Given the description of an element on the screen output the (x, y) to click on. 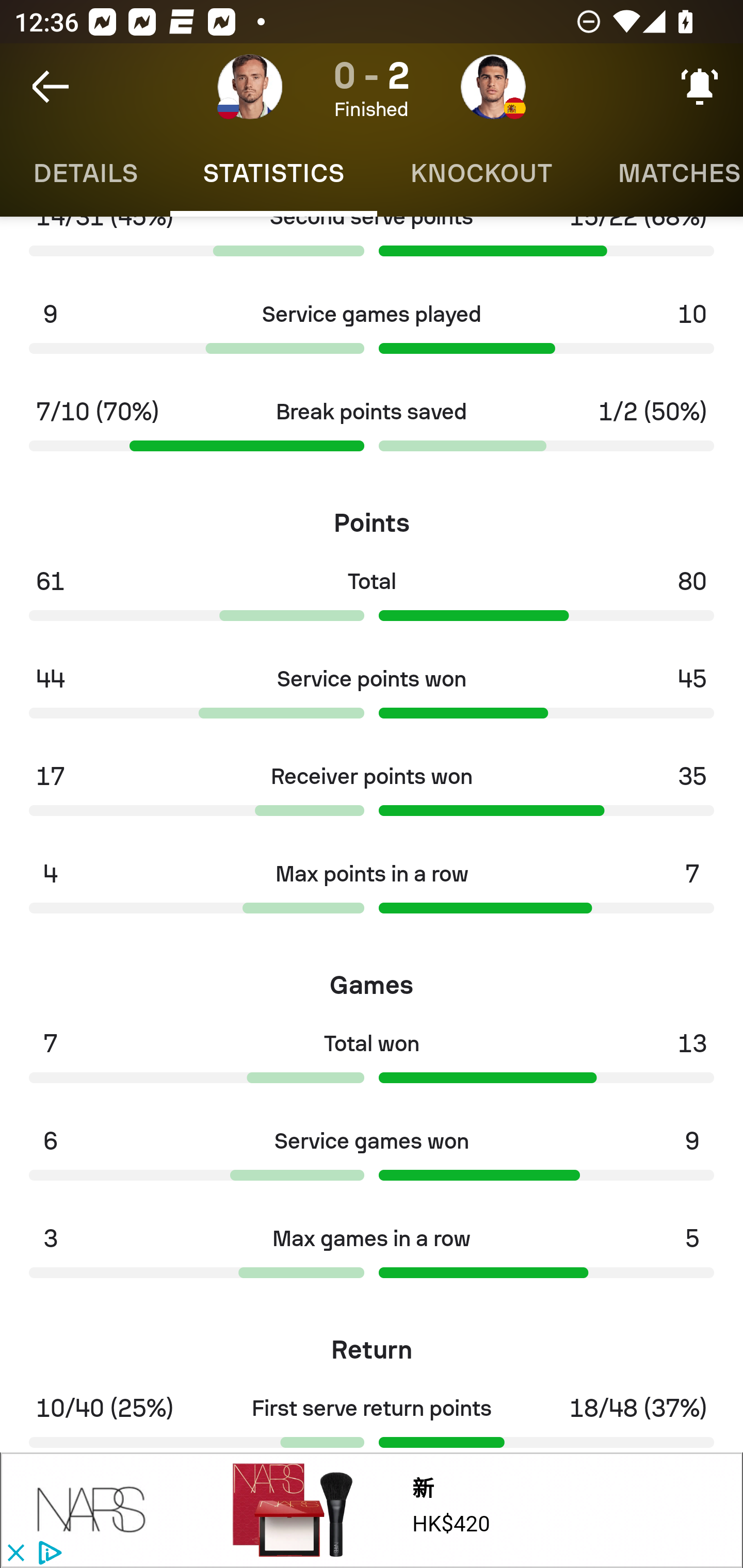
Navigate up (50, 86)
Details DETAILS (85, 173)
Knockout KNOCKOUT (480, 173)
Matches MATCHES (663, 173)
9 Service games played 10 473.0 526.0 (371, 333)
Points (371, 515)
61 Total 80 432.0 567.0 (371, 600)
44 Service points won 45 494.0 505.0 (371, 698)
17 Receiver points won 35 326.0 673.0 (371, 796)
4 Max points in a row 7 363.0 636.0 (371, 893)
Games (371, 978)
7 Total won 13 350.0 650.0 (371, 1062)
6 Service games won 9 400.0 600.0 (371, 1159)
3 Max games in a row 5 375.0 625.0 (371, 1257)
Return (371, 1343)
   (91, 1509)
close_button (14, 1553)
privacy_small (47, 1553)
